Given the description of an element on the screen output the (x, y) to click on. 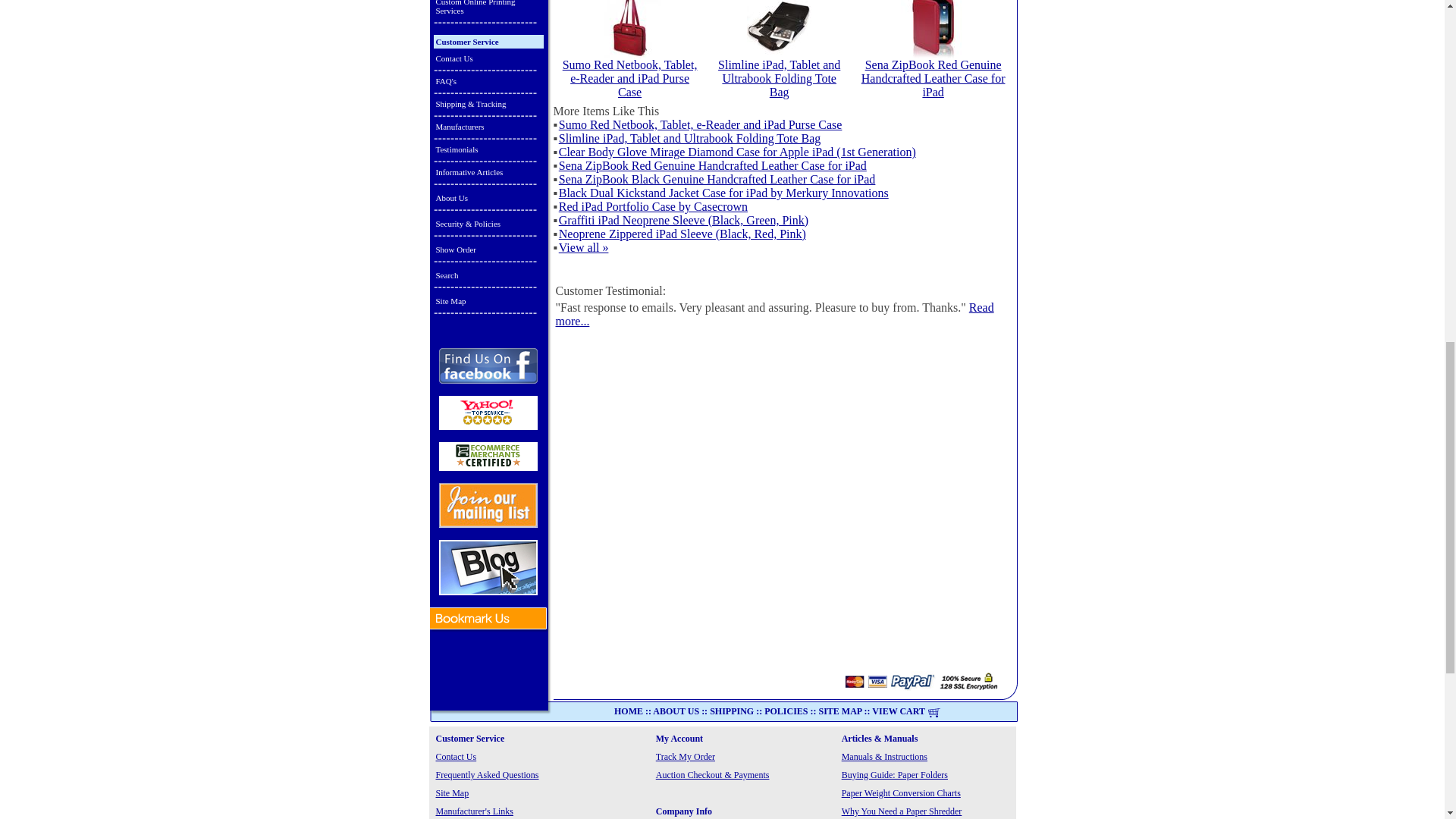
Manufacturers (487, 126)
FAQ's (487, 80)
Custom Online Printing Services (487, 9)
Informative Articles (487, 171)
About Us (487, 197)
Testimonials (487, 149)
Contact Us (487, 58)
